Given the description of an element on the screen output the (x, y) to click on. 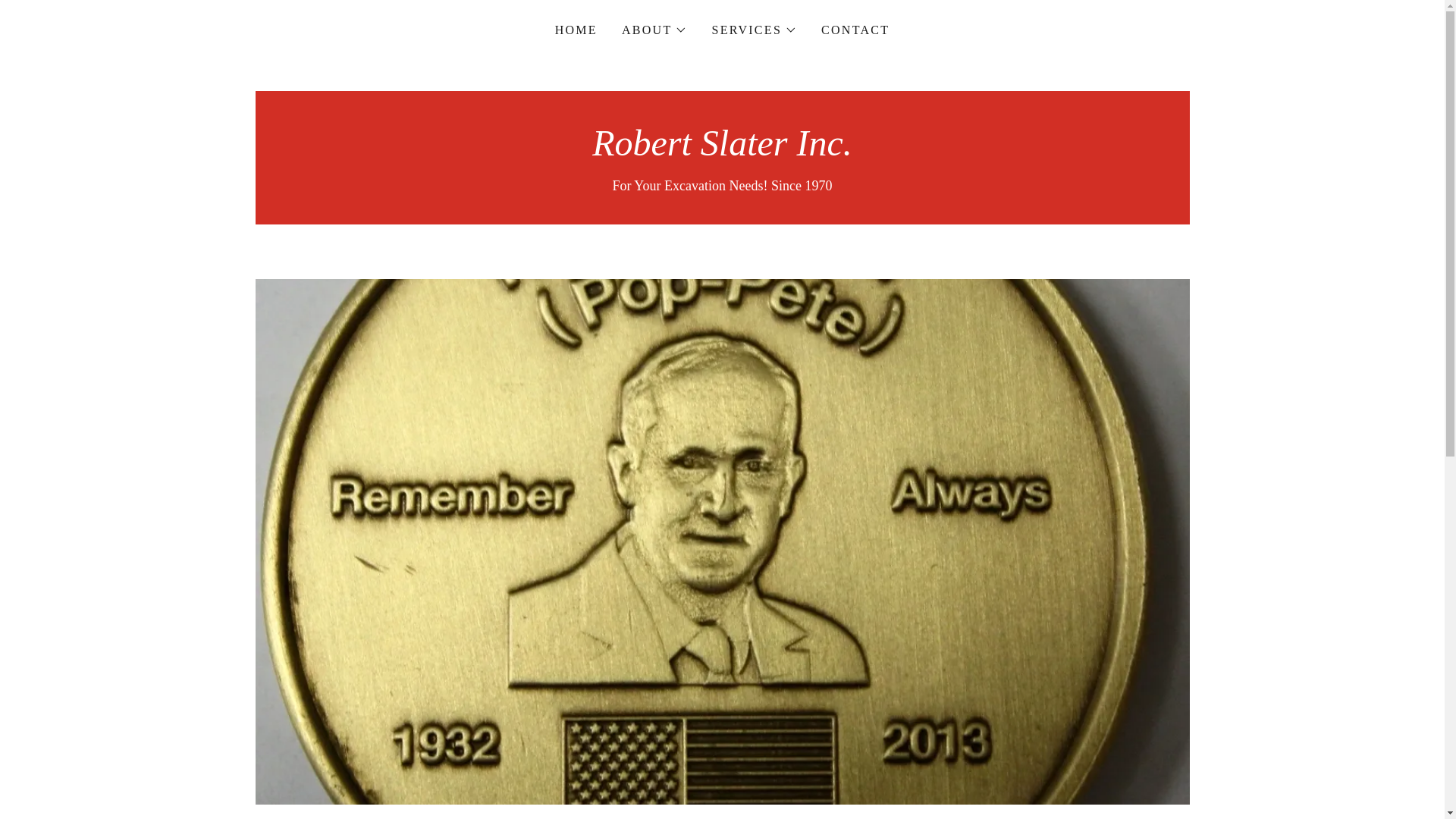
Robert Slater Inc. (721, 150)
ABOUT (654, 30)
Robert Slater Inc. (721, 150)
CONTACT (854, 30)
HOME (576, 30)
SERVICES (753, 30)
